Given the description of an element on the screen output the (x, y) to click on. 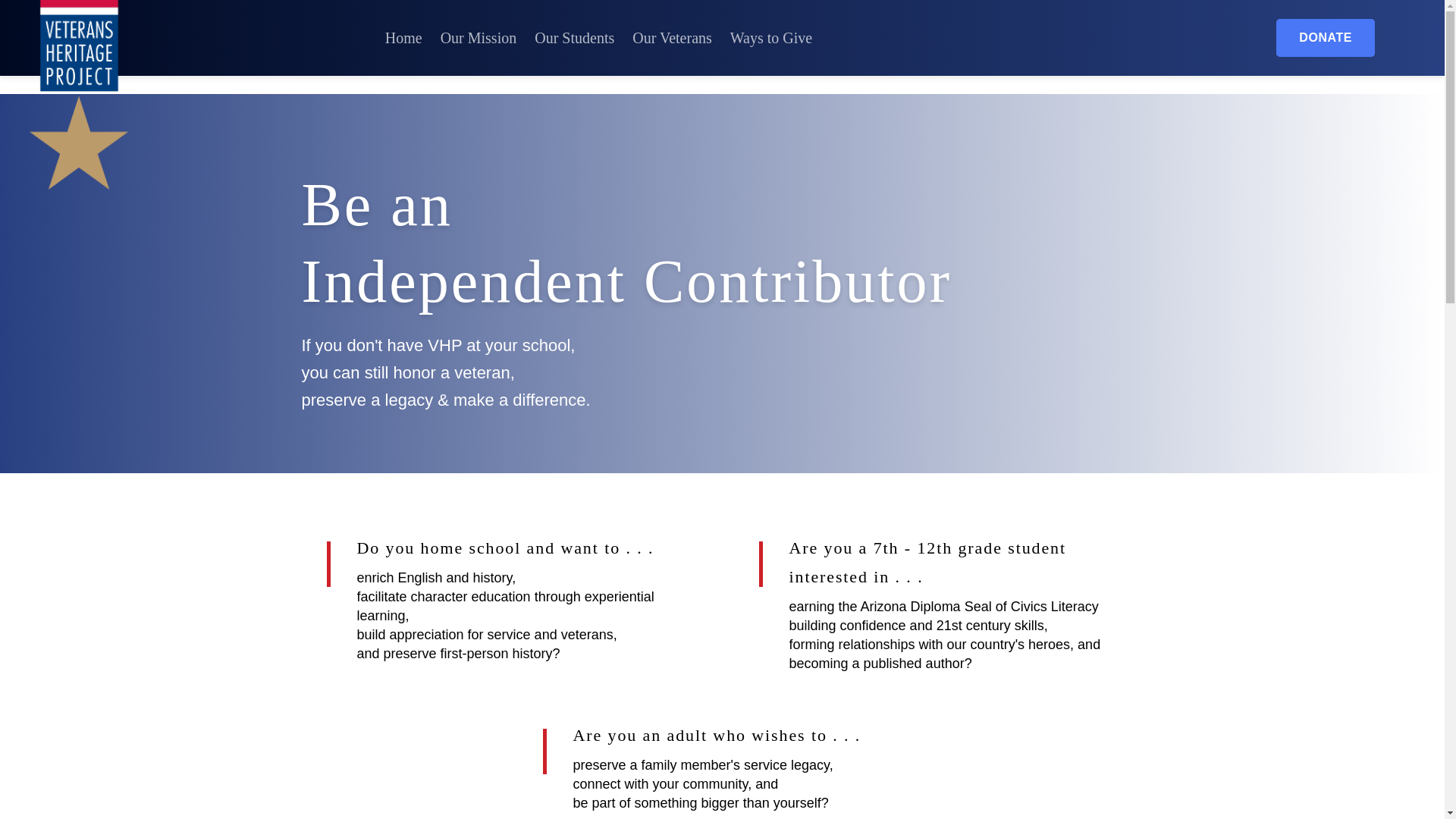
Ways to Give (771, 38)
Our Students (574, 38)
Home (403, 38)
Our Mission (478, 38)
DONATE (1325, 37)
Skip to main content (55, 8)
Our Veterans (671, 38)
